Given the description of an element on the screen output the (x, y) to click on. 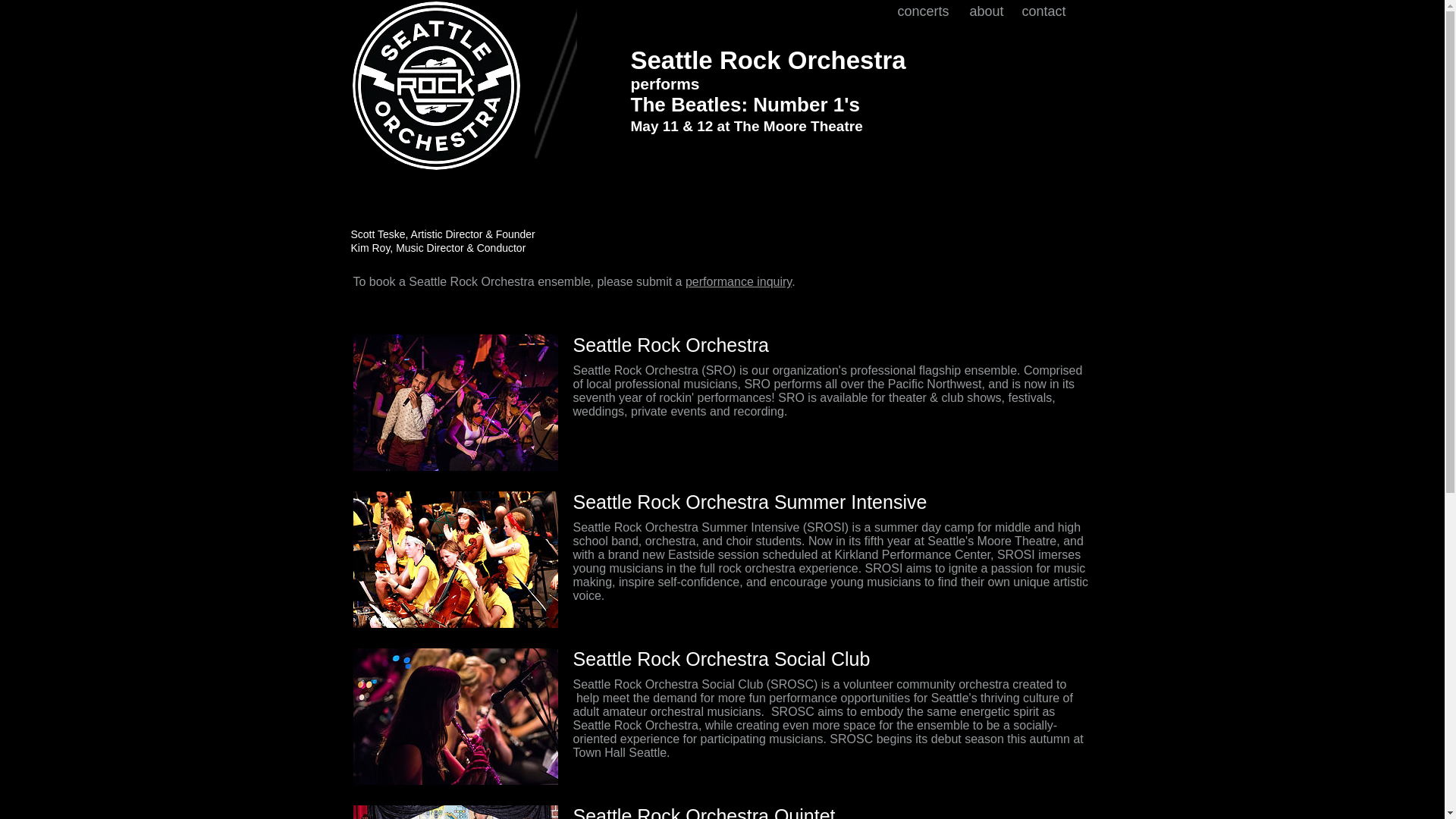
49.jpg (455, 402)
concerts (925, 11)
contact (1046, 11)
performance inquiry (738, 281)
57.jpg (455, 716)
about (986, 11)
